Given the description of an element on the screen output the (x, y) to click on. 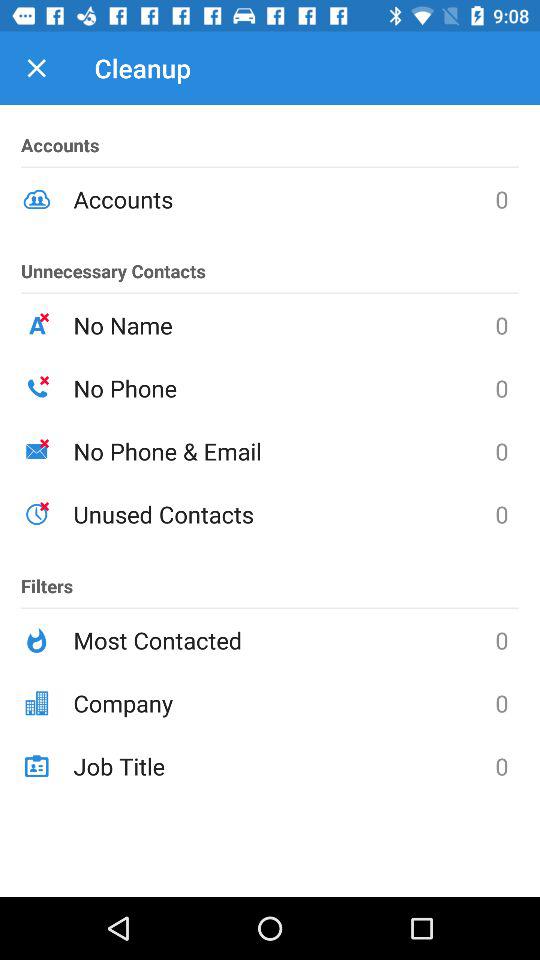
launch the item to the left of 0 item (284, 766)
